Given the description of an element on the screen output the (x, y) to click on. 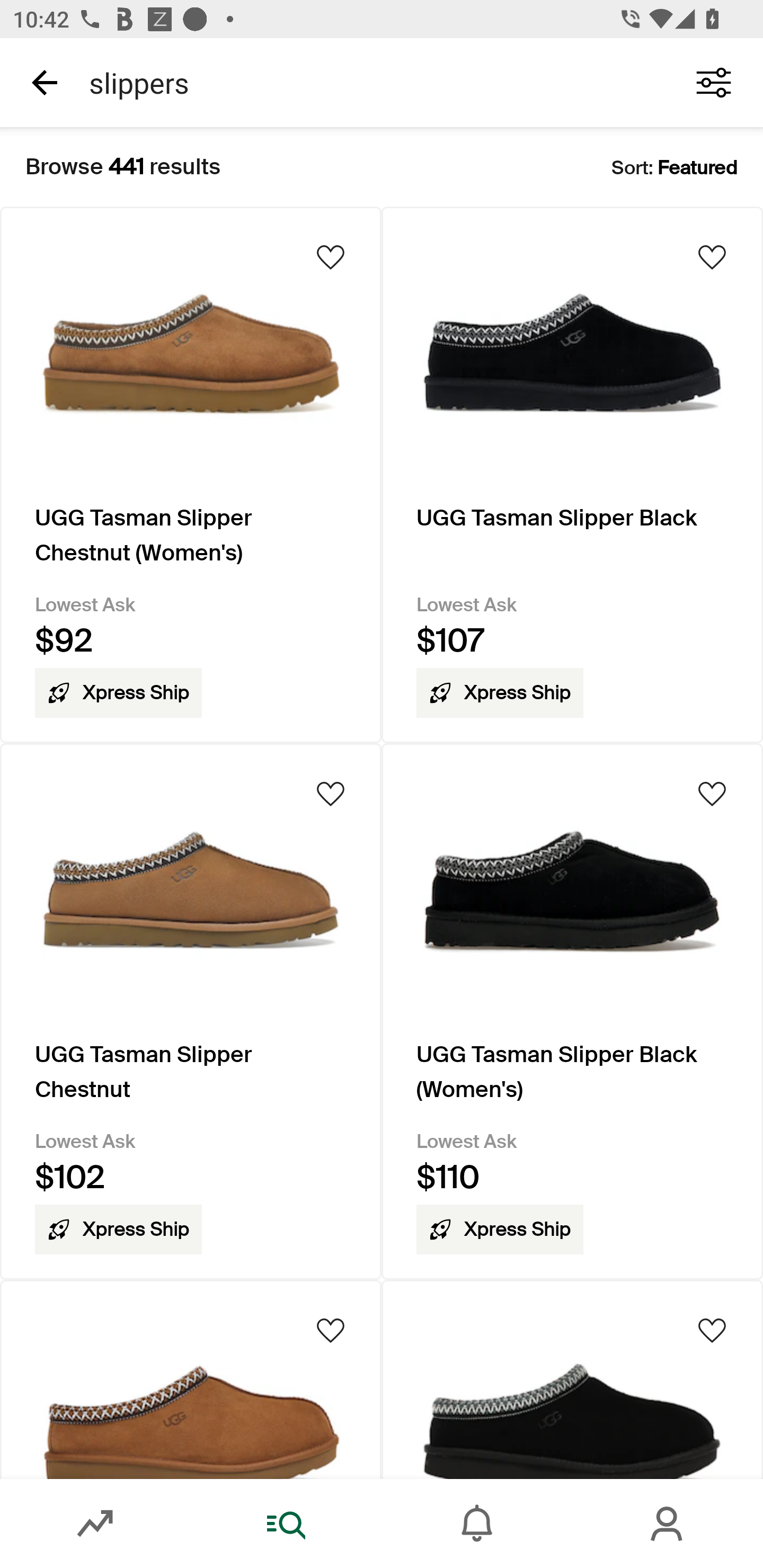
slippers (370, 82)
Product Image (190, 1378)
Product Image (572, 1378)
Market (95, 1523)
Inbox (476, 1523)
Account (667, 1523)
